Given the description of an element on the screen output the (x, y) to click on. 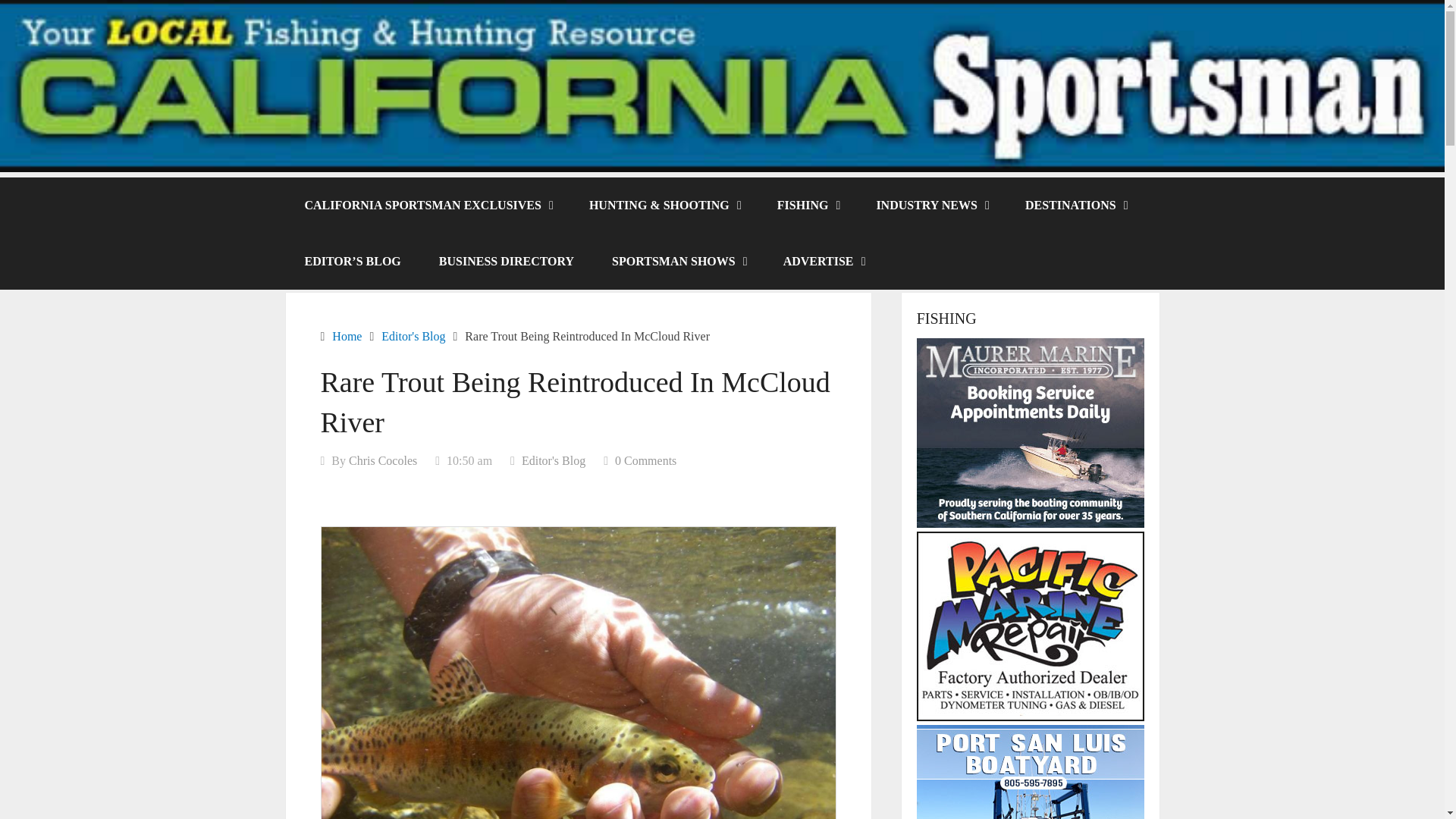
CALIFORNIA SPORTSMAN EXCLUSIVES (427, 205)
Editor's Blog (413, 336)
0 Comments (645, 460)
INDUSTRY NEWS (931, 205)
Home (346, 336)
Editor's Blog (553, 460)
Chris Cocoles (382, 460)
SPORTSMAN SHOWS (678, 261)
FISHING (807, 205)
Posts by Chris Cocoles (382, 460)
